Given the description of an element on the screen output the (x, y) to click on. 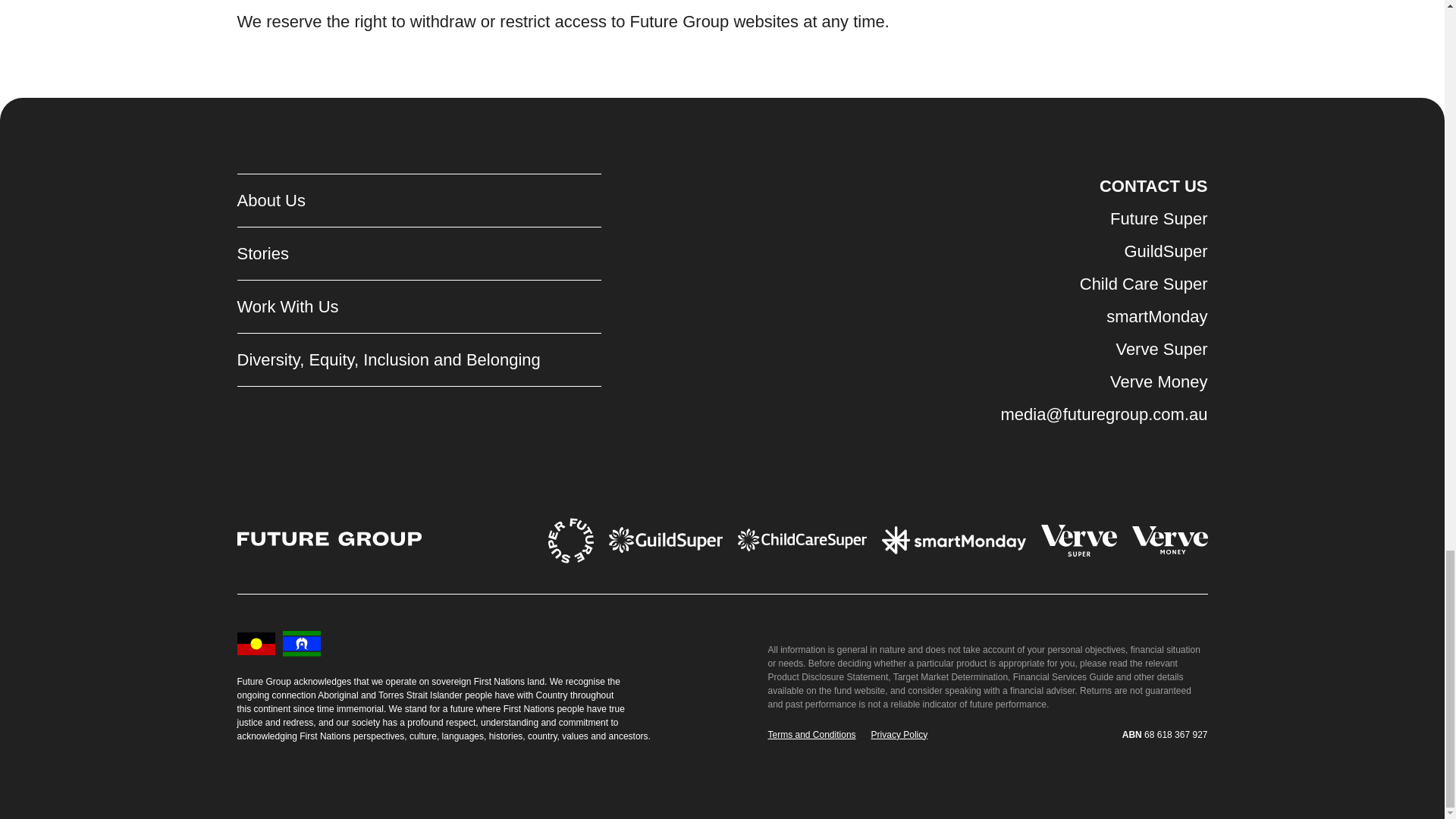
Terms and Conditions (811, 734)
smartMonday (1103, 316)
Future Super (1103, 218)
Privacy Policy (899, 734)
Verve Super (1103, 348)
Stories (387, 253)
Child Care Super (1103, 283)
Diversity, Equity, Inclusion and Belonging (387, 359)
Verve Money (1103, 381)
GuildSuper (1103, 251)
